Given the description of an element on the screen output the (x, y) to click on. 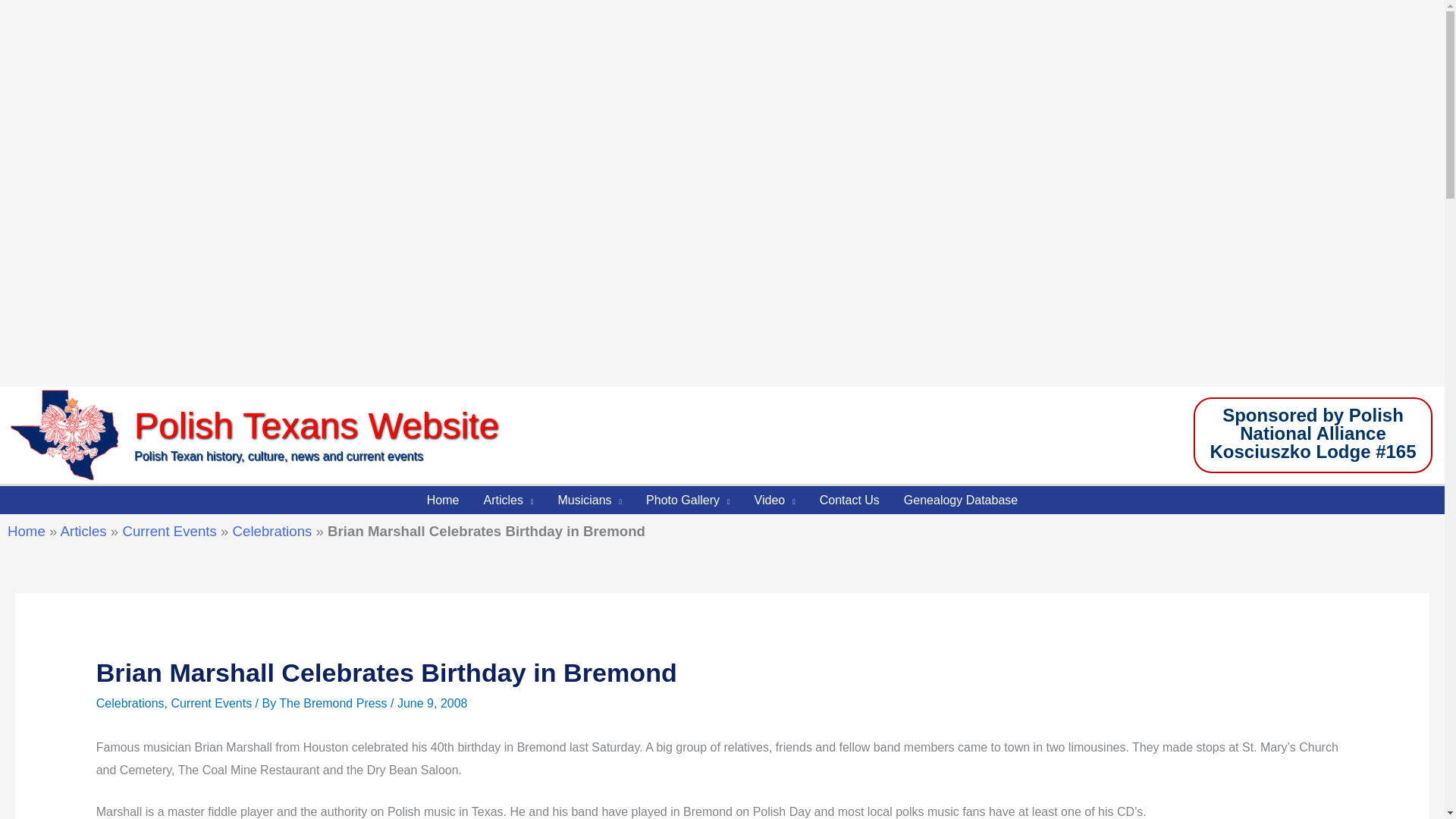
Video (775, 500)
Musicians (588, 500)
Home (442, 500)
Photo Gallery (687, 500)
Polish Texans Website (316, 425)
Musicians (588, 500)
Articles (507, 500)
View all posts by The Bremond Press (334, 703)
